Given the description of an element on the screen output the (x, y) to click on. 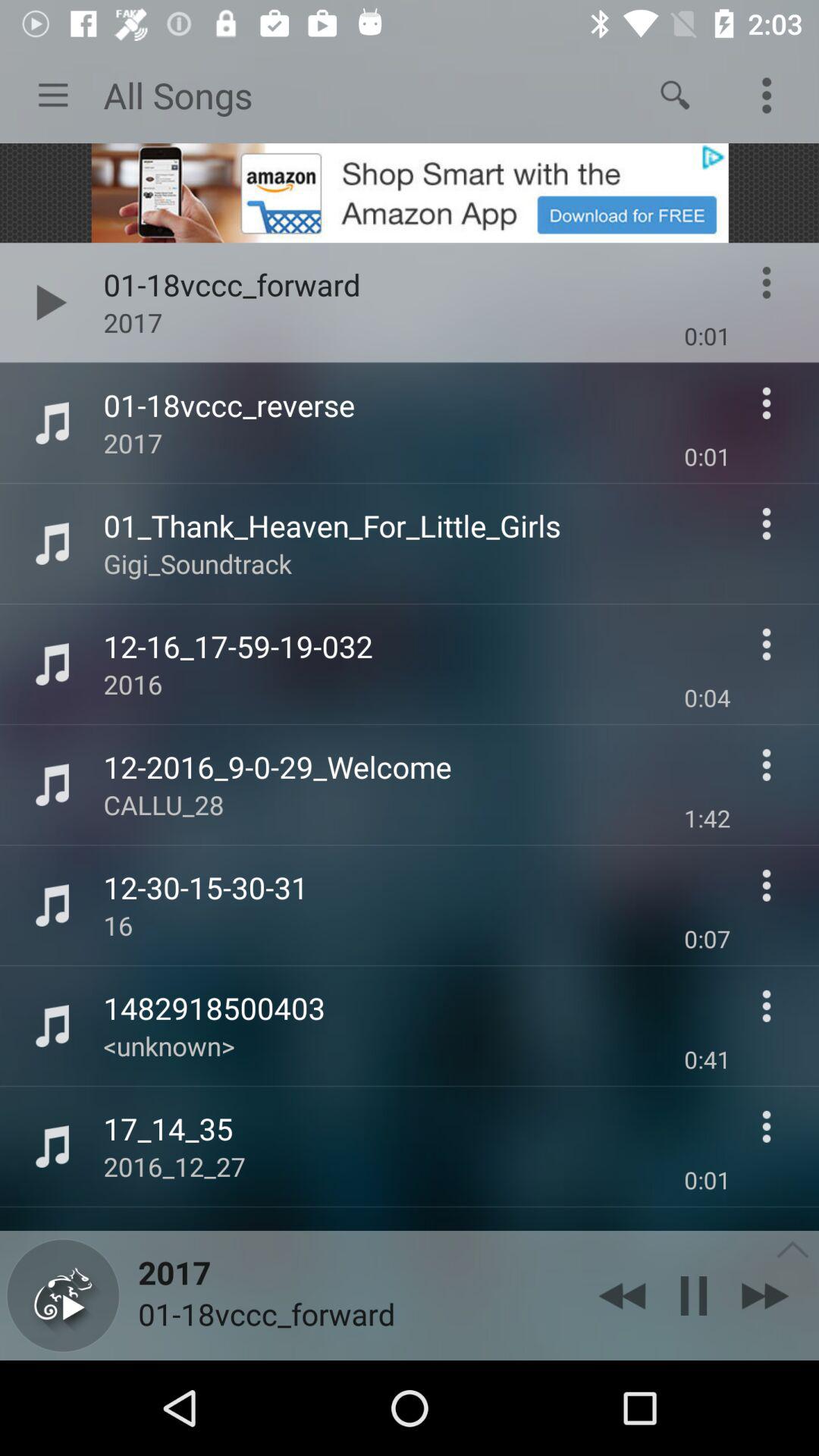
follow the banner (409, 192)
